Given the description of an element on the screen output the (x, y) to click on. 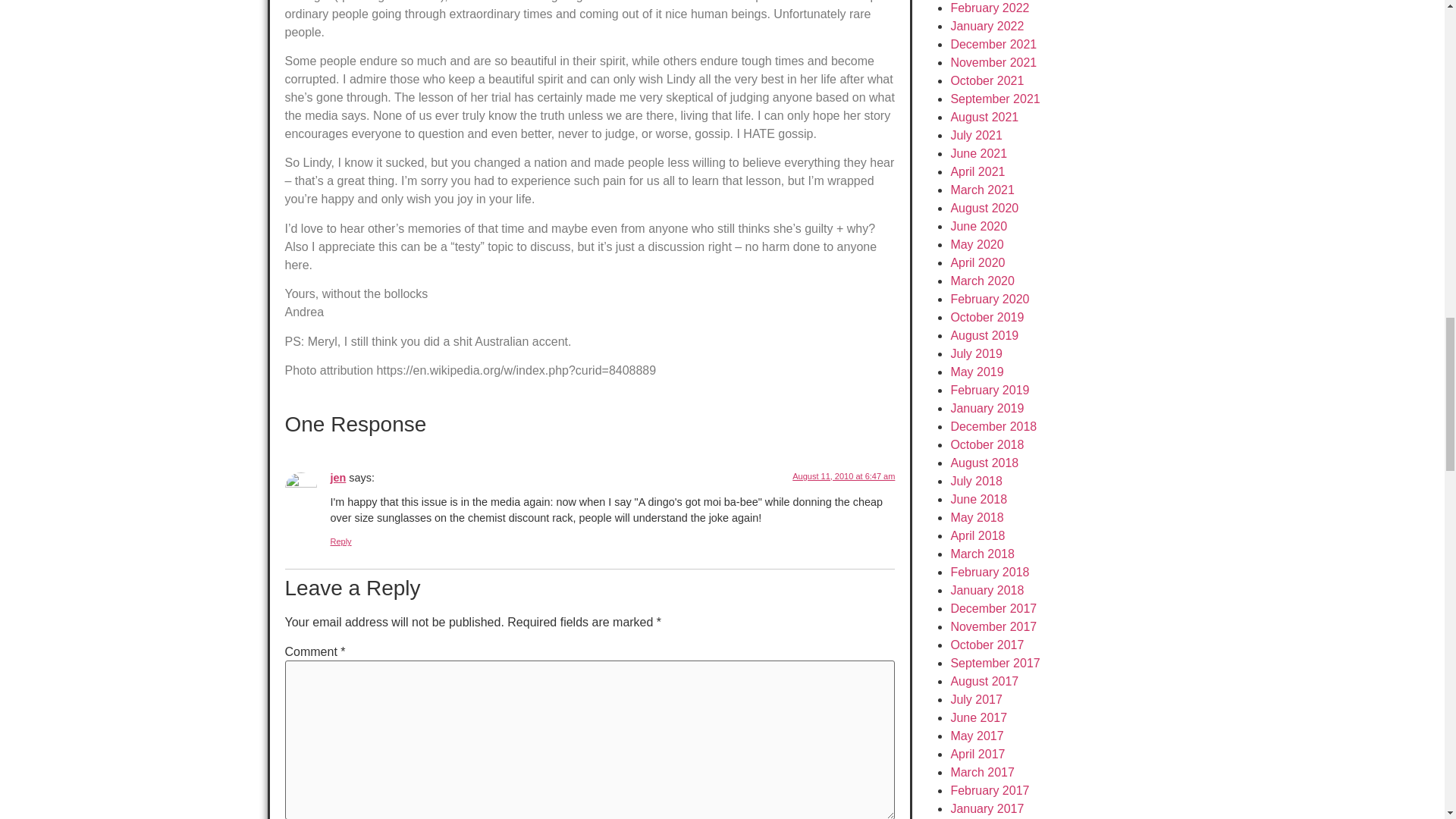
August 11, 2010 at 6:47 am (843, 475)
jen (338, 477)
Reply (341, 541)
